Given the description of an element on the screen output the (x, y) to click on. 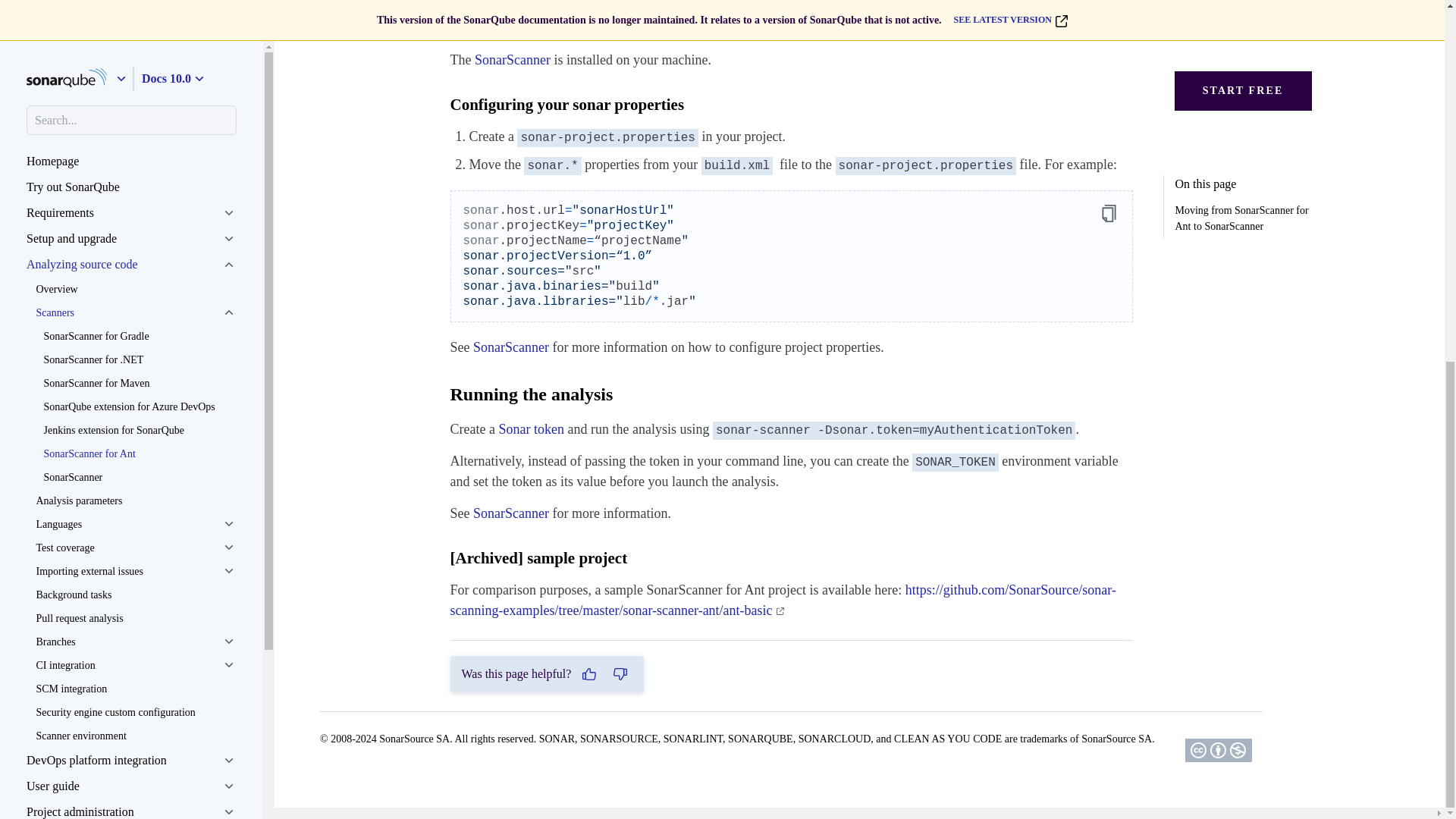
Twitter (49, 360)
Project administration (131, 168)
Community (61, 317)
Security engine custom configuration (135, 69)
Sonar Home (62, 273)
SonarQube (59, 294)
User guide (131, 143)
Security engine custom configuration (135, 69)
SonarQube (59, 294)
Sonar Home (62, 273)
